Given the description of an element on the screen output the (x, y) to click on. 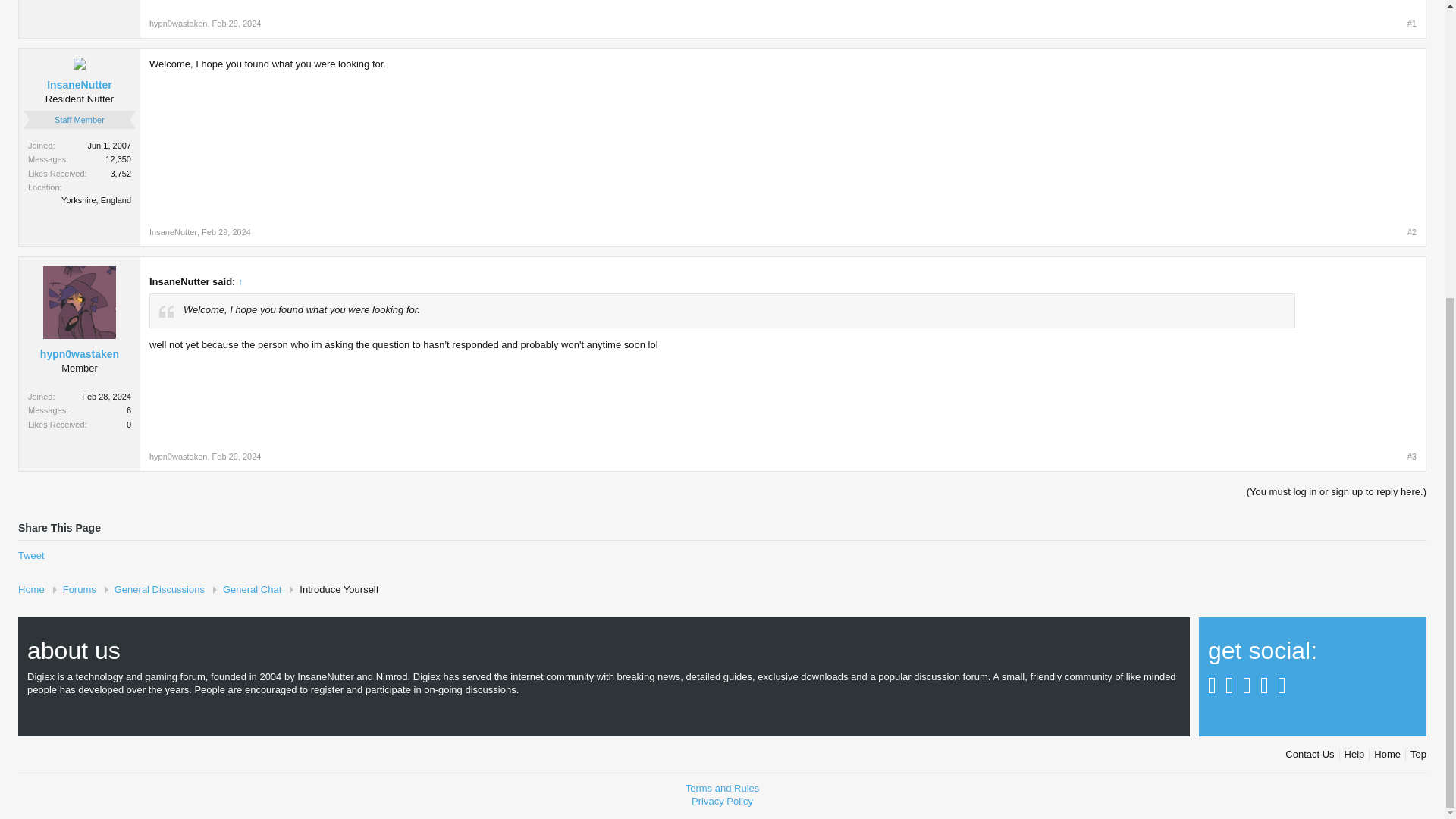
Feb 29, 2024 (237, 456)
Permalink (237, 456)
hypn0wastaken (177, 456)
6 (128, 409)
Permalink (1411, 23)
Home (35, 589)
hypn0wastaken (79, 354)
Forums (78, 589)
InsaneNutter (79, 84)
Permalink (1411, 456)
General Discussions (159, 589)
General Chat (251, 589)
hypn0wastaken (177, 22)
Tweet (31, 555)
InsaneNutter (172, 231)
